Given the description of an element on the screen output the (x, y) to click on. 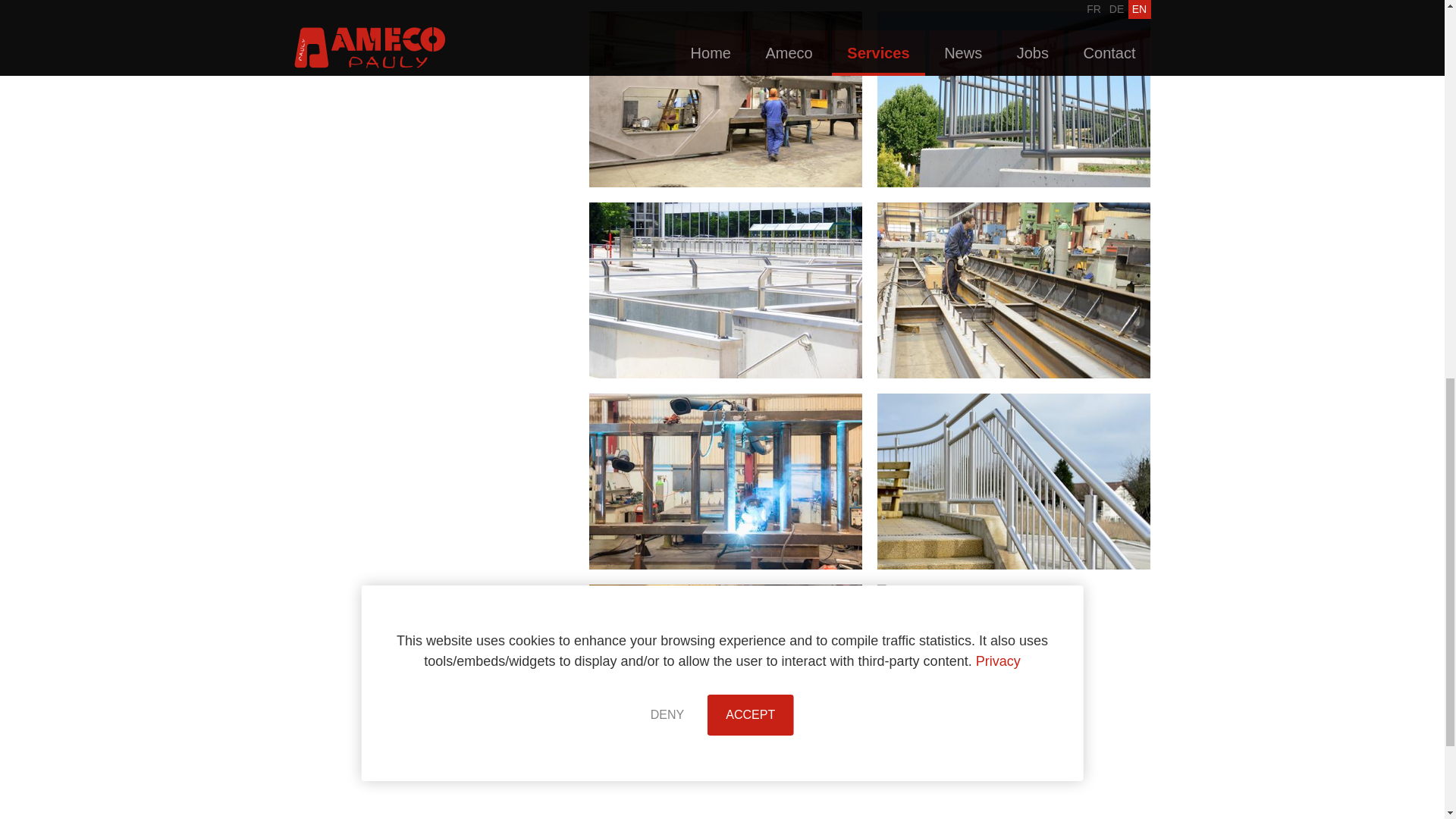
Metalworking - Services (1013, 672)
Metalworking - Services (1013, 290)
Metalworking - Services (1013, 481)
Metalworking - Services (1013, 99)
Metalworking - Services (725, 99)
Metalworking - Services (725, 672)
Metalworking - Services (725, 290)
Metalworking - Services (725, 481)
